Given the description of an element on the screen output the (x, y) to click on. 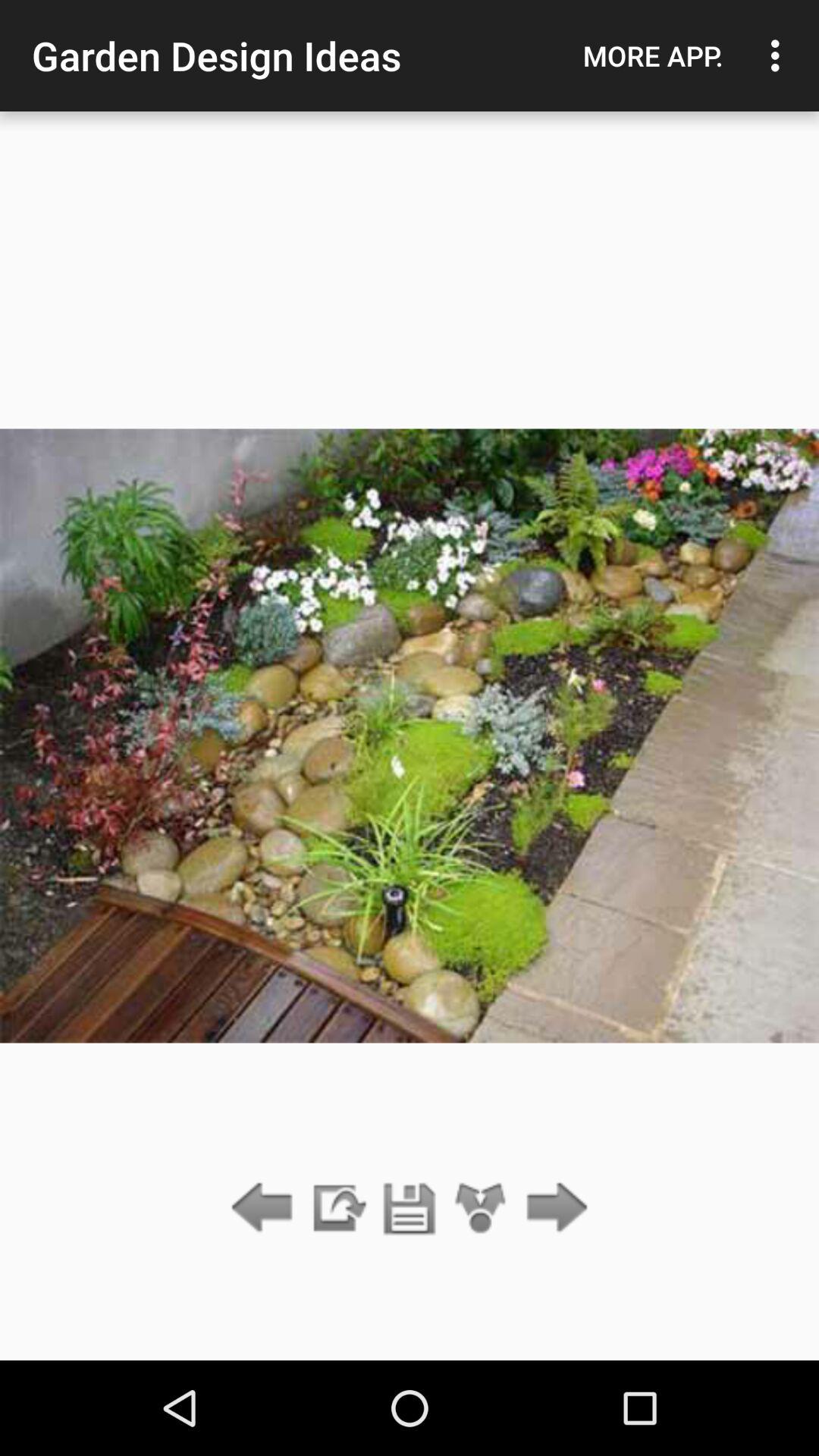
go back (266, 1209)
